Given the description of an element on the screen output the (x, y) to click on. 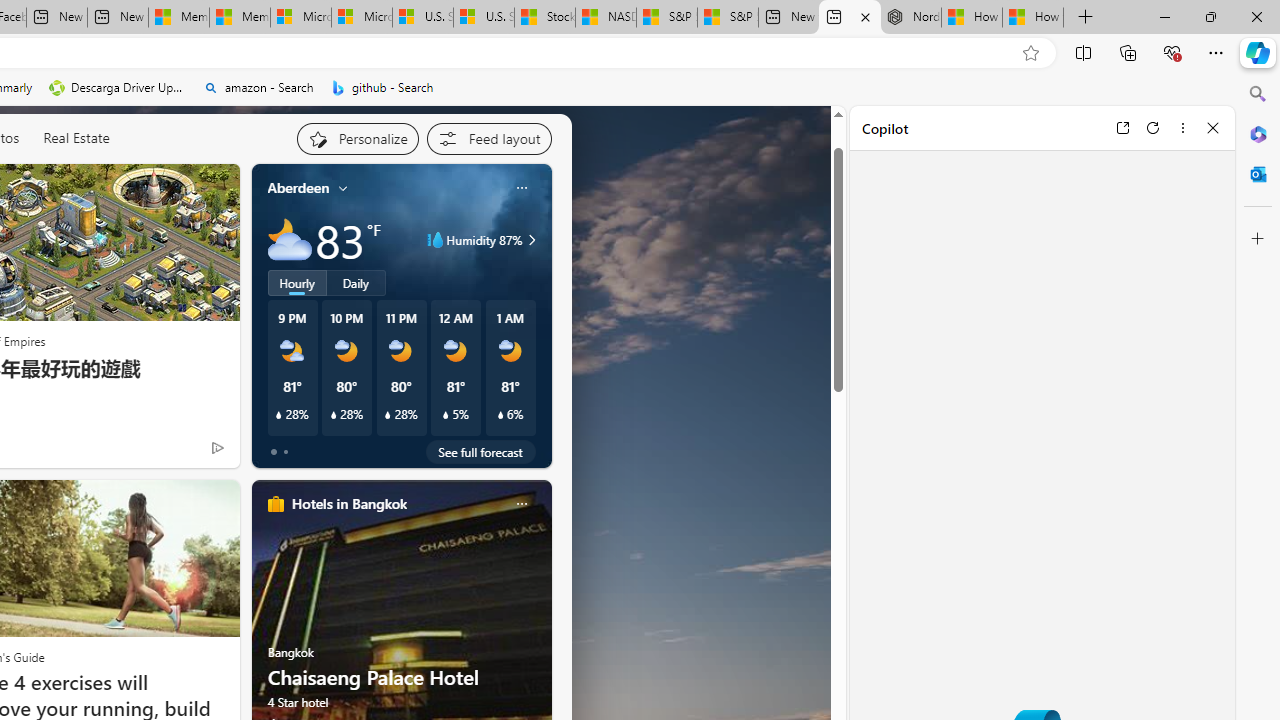
Mostly cloudy (289, 240)
Open link in new tab (1122, 127)
Feed settings (488, 138)
Personalize your feed" (356, 138)
Daily (356, 282)
github - Search (381, 88)
tab-1 (285, 451)
S&P 500, Nasdaq end lower, weighed by Nvidia dip | Watch (727, 17)
Outlook (1258, 174)
